Given the description of an element on the screen output the (x, y) to click on. 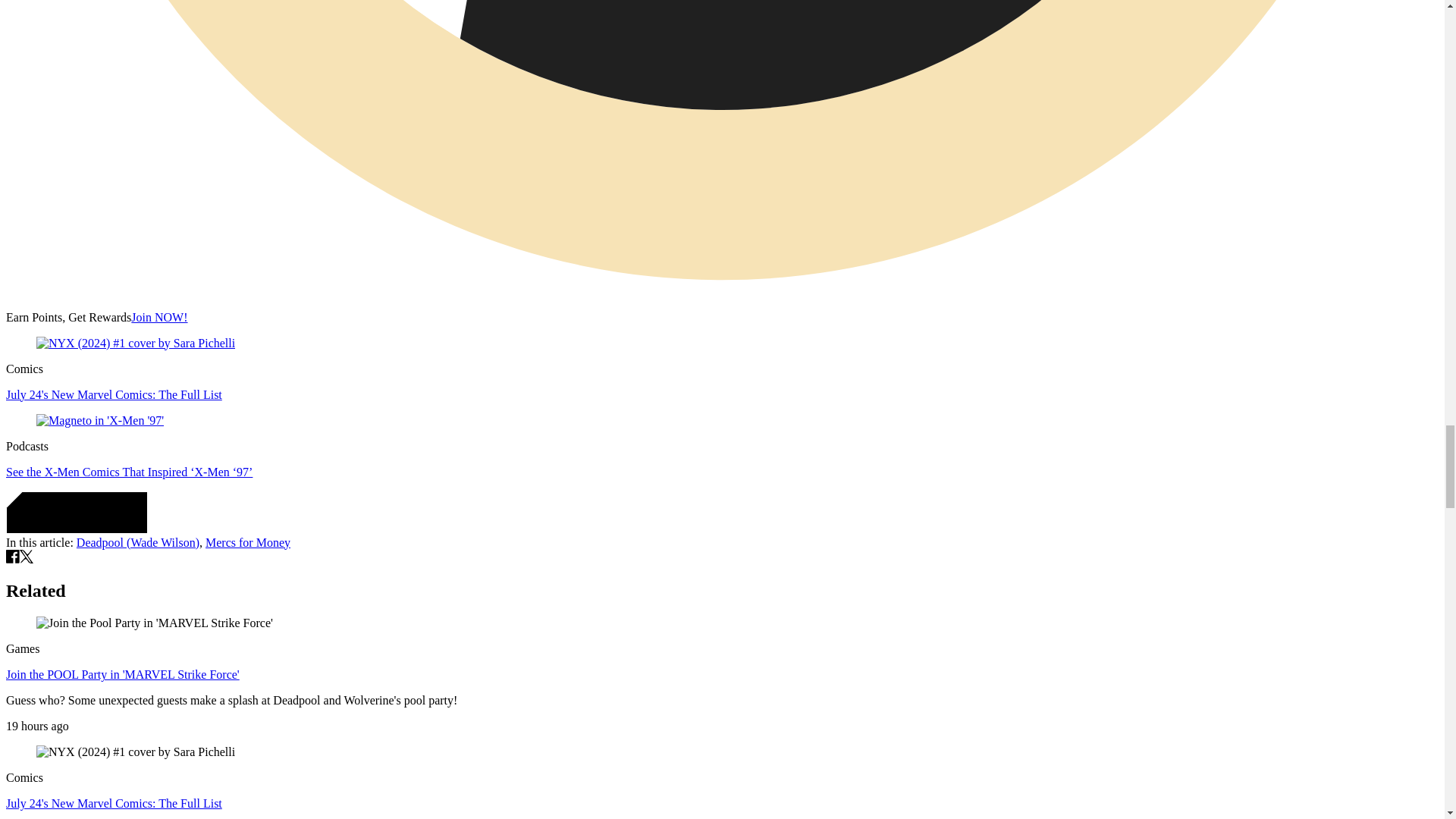
Join the POOL Party in 'MARVEL Strike Force' (122, 674)
Join NOW! (159, 317)
July 24's New Marvel Comics: The Full List (113, 394)
Mercs for Money (247, 542)
